Given the description of an element on the screen output the (x, y) to click on. 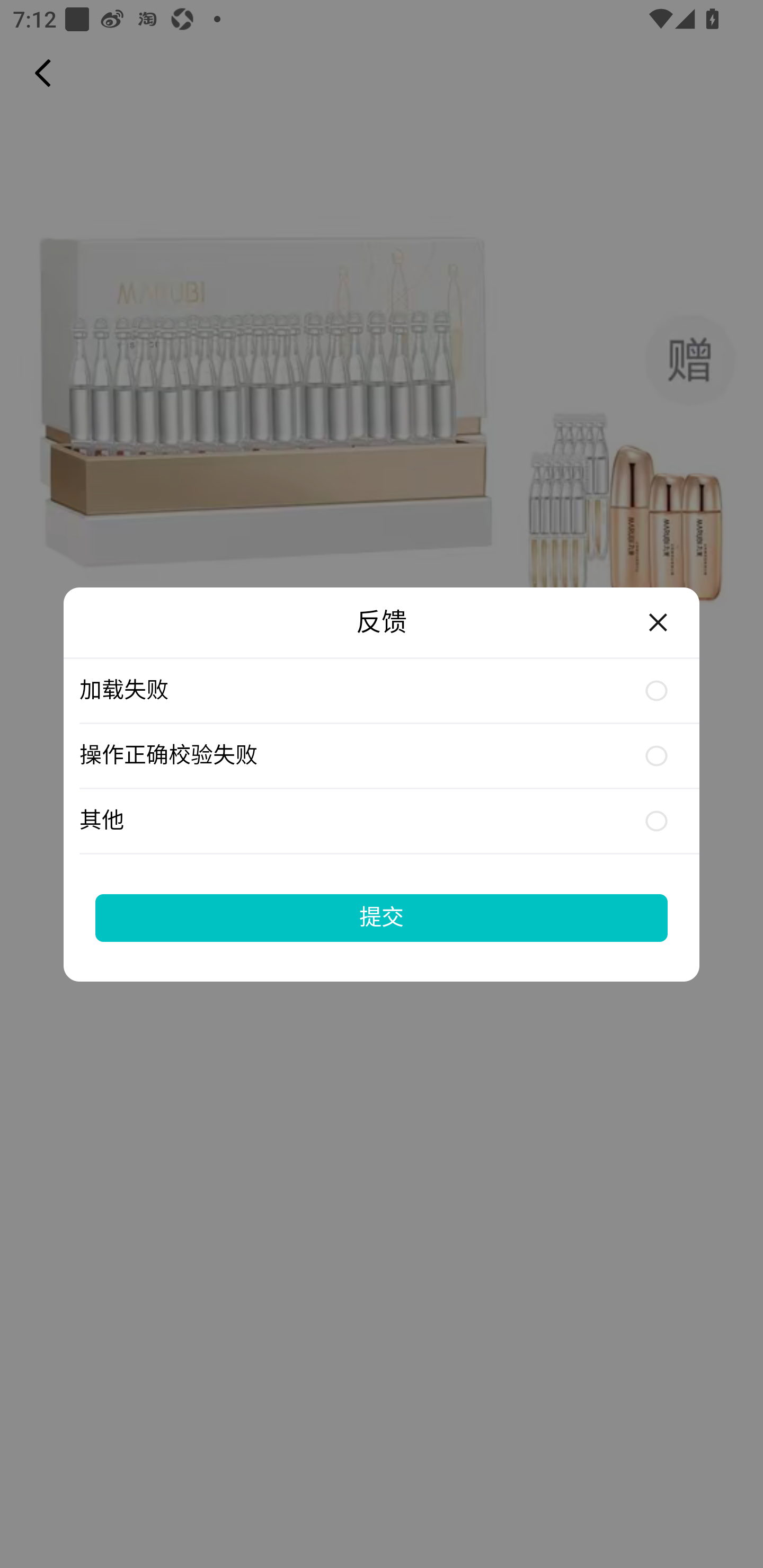
提交 (381, 917)
